Given the description of an element on the screen output the (x, y) to click on. 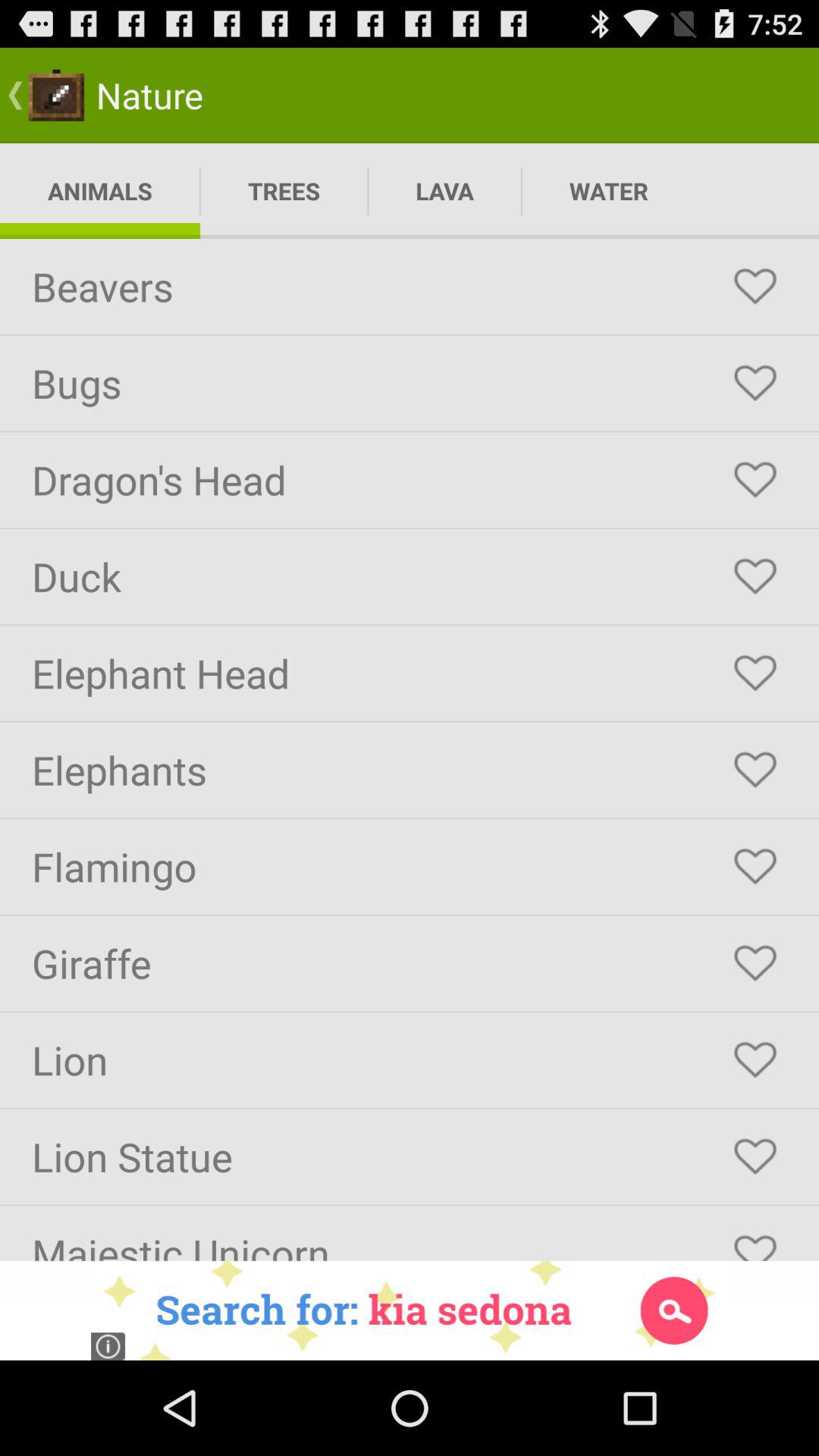
toggle favorite (755, 769)
